Given the description of an element on the screen output the (x, y) to click on. 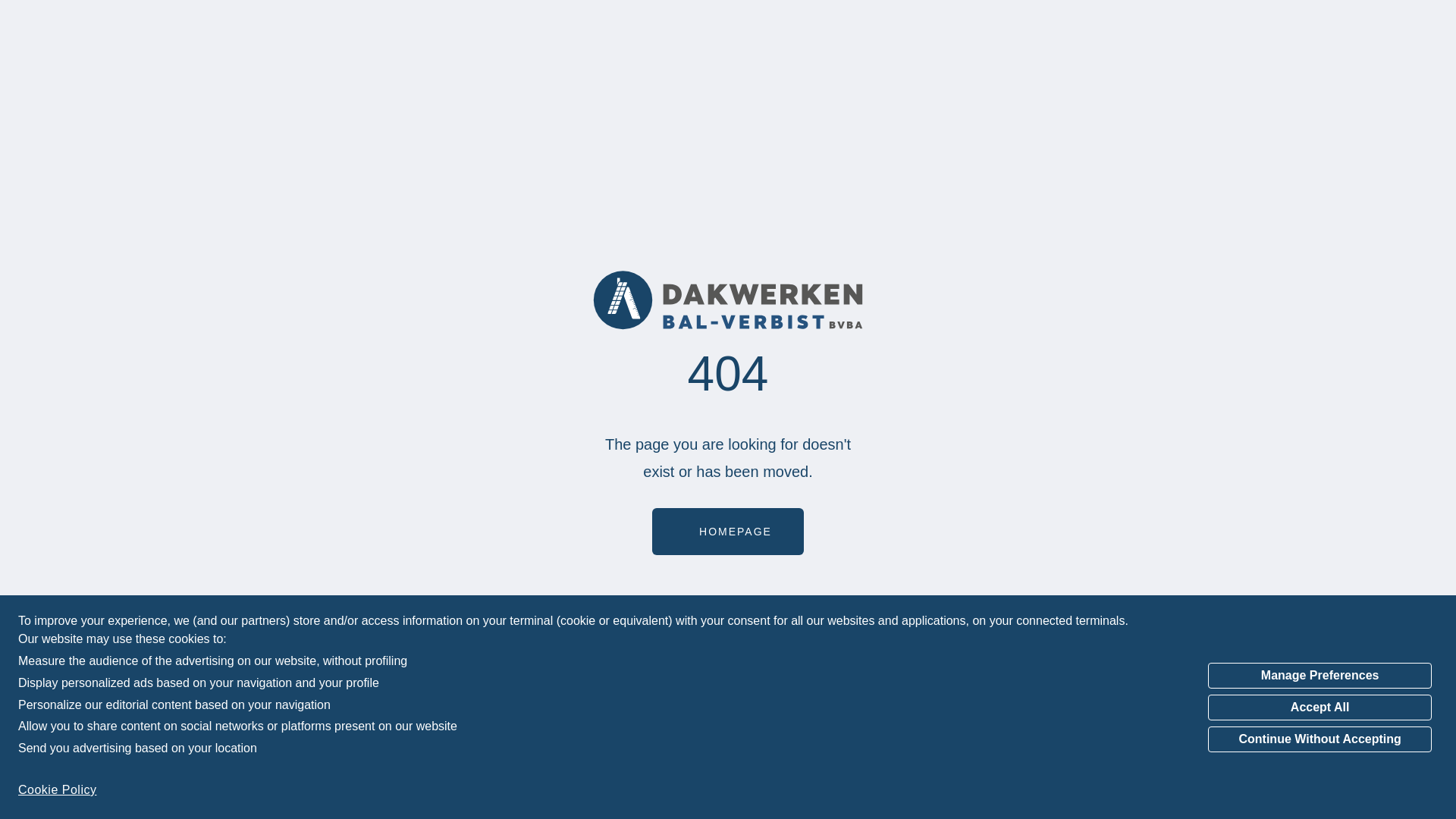
Accept All Element type: text (1319, 707)
HOMEPAGE Element type: text (727, 531)
Cookie Policy Element type: text (57, 789)
Manage Preferences Element type: text (1319, 675)
Continue Without Accepting Element type: text (1319, 739)
